Given the description of an element on the screen output the (x, y) to click on. 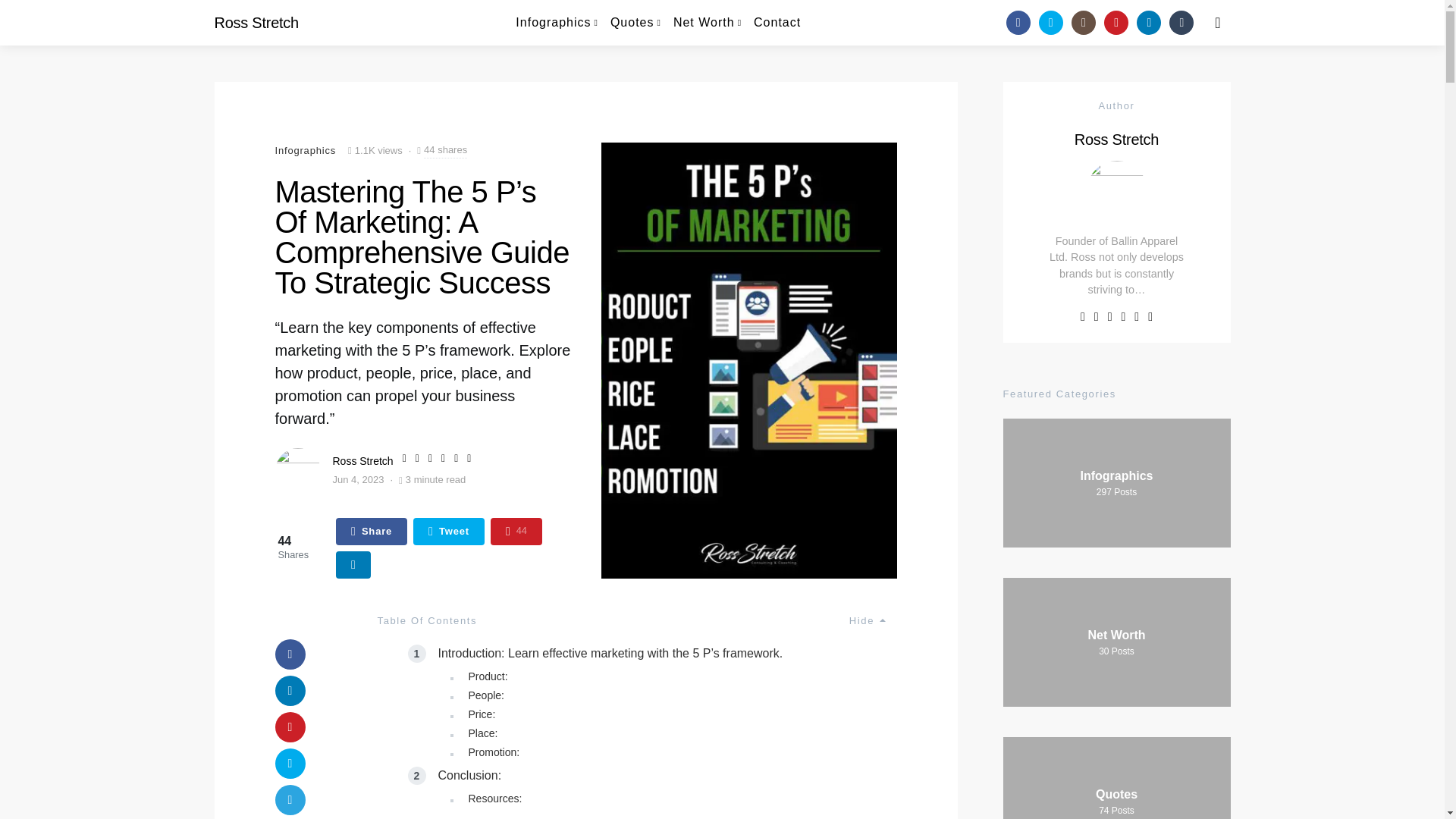
Ross Stretch (256, 22)
